Given the description of an element on the screen output the (x, y) to click on. 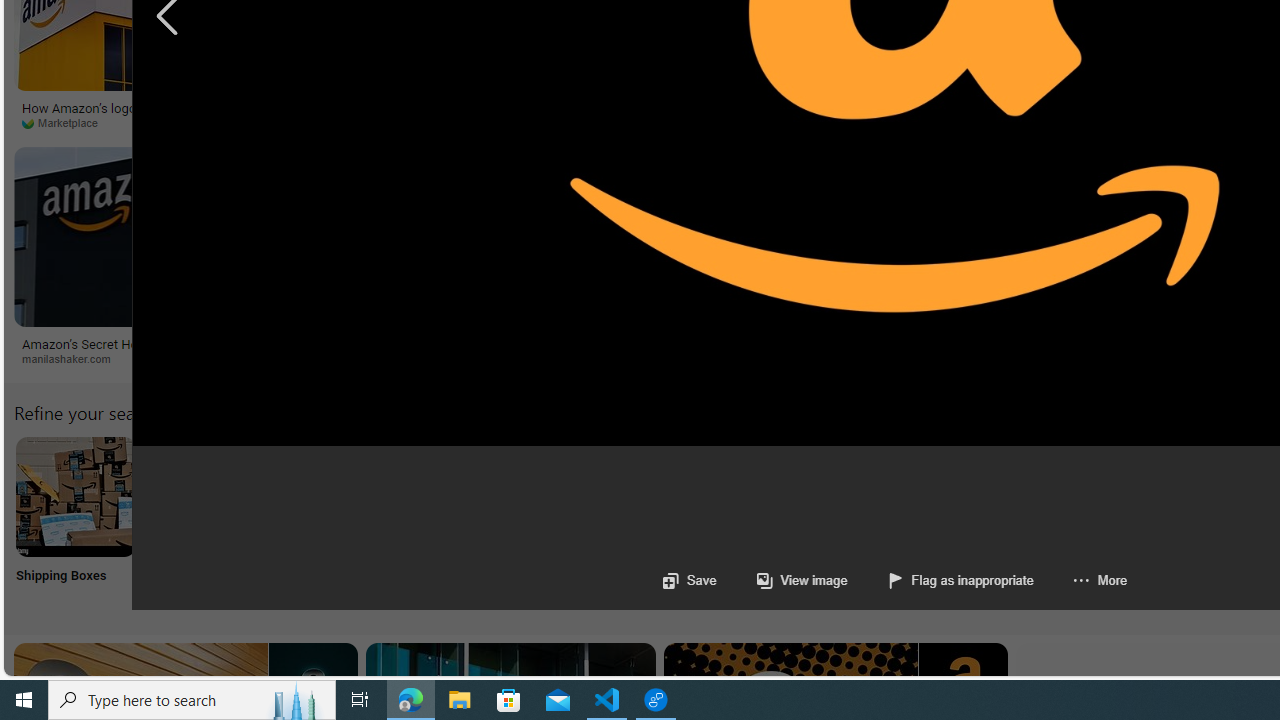
protothema.gr (821, 359)
Dallas Morning News (756, 123)
Amazon Retail Store Retail Store (867, 521)
Amazon Online Shopping Search Online Shopping Search (207, 521)
Retail Store (867, 521)
Amazon Online Store (1131, 496)
Amazon Jobs Near Me (604, 496)
View image (781, 580)
Amazon Package Delivery (735, 496)
vecteezy.com (961, 121)
Amazon Wish List Wish List (999, 521)
Flag as inappropriate (960, 580)
